Given the description of an element on the screen output the (x, y) to click on. 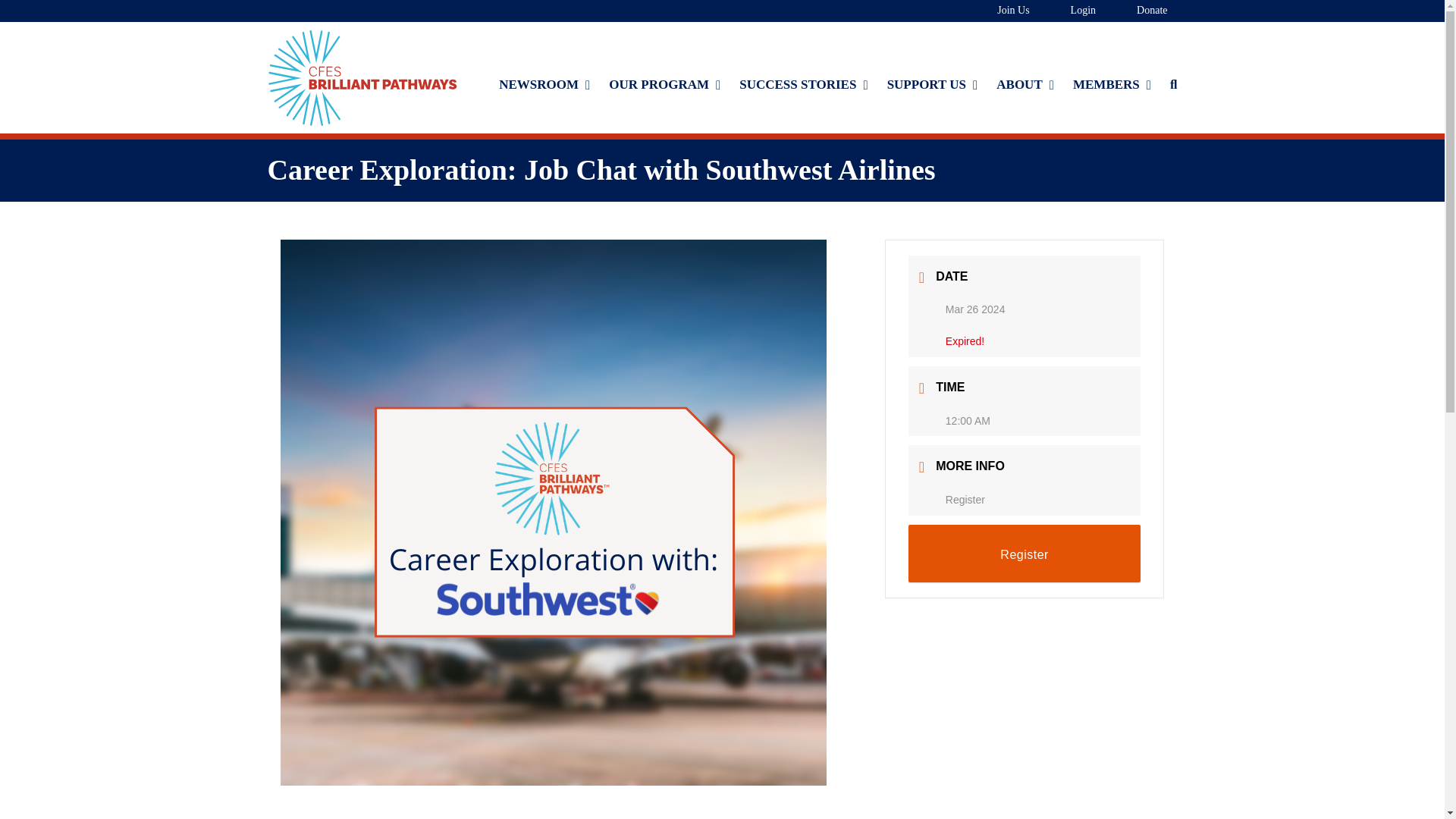
OUR PROGRAM (664, 84)
Donate (1141, 10)
MEMBERS (1112, 84)
NEWSROOM (544, 84)
Login (1073, 10)
Join Us (1002, 10)
SUCCESS STORIES (803, 84)
SUPPORT US (932, 84)
